Given the description of an element on the screen output the (x, y) to click on. 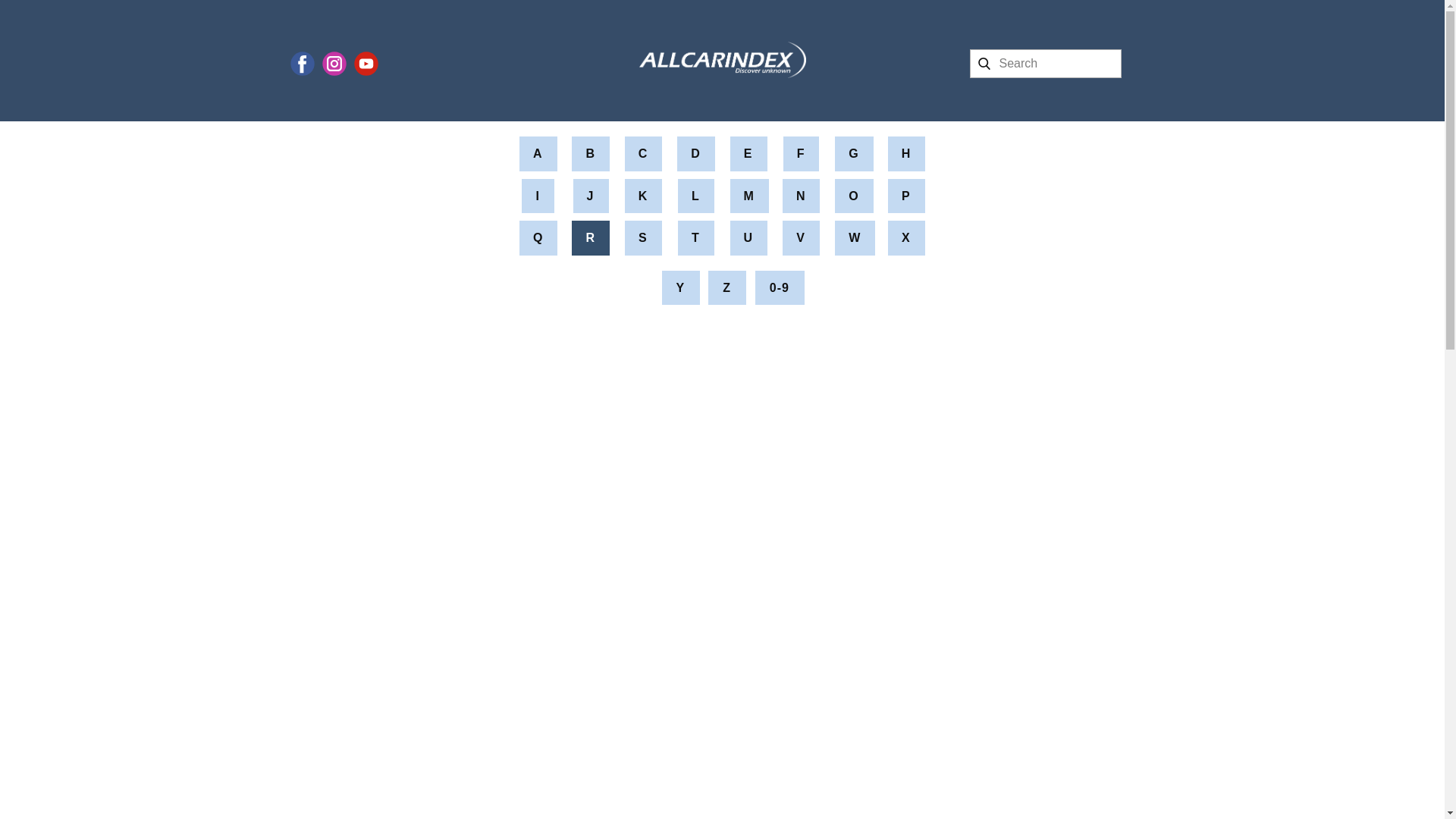
K (643, 196)
C (643, 153)
G (853, 153)
B (591, 153)
YouTube (365, 63)
instagram (333, 63)
A (538, 153)
H (907, 153)
I (537, 196)
E (748, 153)
D (695, 153)
J (590, 196)
L (696, 196)
F (801, 153)
facebook (301, 63)
